Given the description of an element on the screen output the (x, y) to click on. 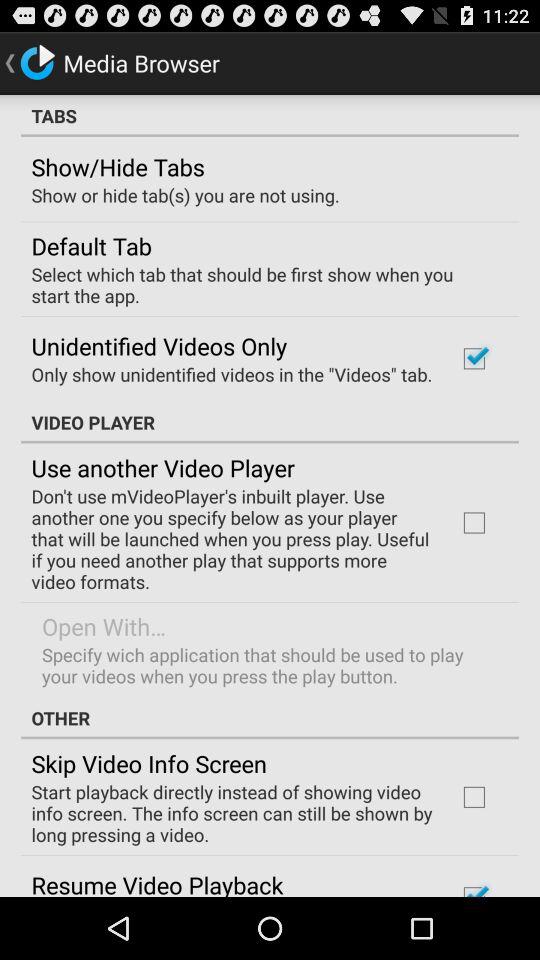
choose the item below the default tab item (263, 284)
